Given the description of an element on the screen output the (x, y) to click on. 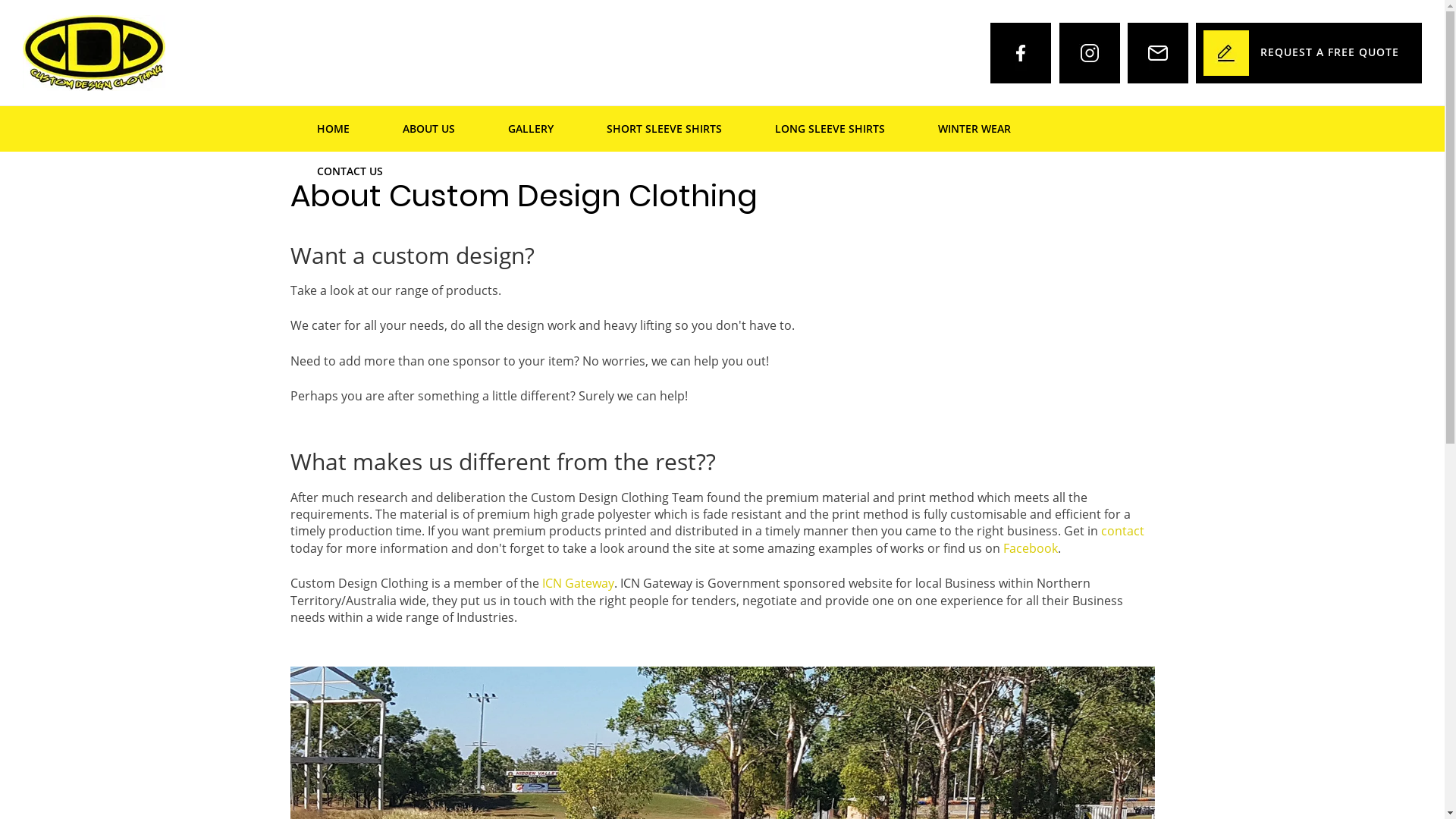
Facebook Element type: text (1029, 547)
HOME Element type: text (332, 128)
WINTER WEAR Element type: text (974, 128)
SHORT SLEEVE SHIRTS Element type: text (663, 128)
CONTACT US Element type: text (348, 171)
Email us Element type: hover (1157, 52)
contact Element type: text (1122, 530)
GALLERY Element type: text (529, 128)
facebook Element type: text (1020, 52)
instagram Element type: text (1089, 52)
ABOUT US Element type: text (428, 128)
ICN Gateway Element type: text (577, 582)
REQUEST A FREE QUOTE Element type: text (1308, 52)
LONG SLEEVE SHIRTS Element type: text (828, 128)
Custom Design Clothing Element type: hover (93, 51)
